Given the description of an element on the screen output the (x, y) to click on. 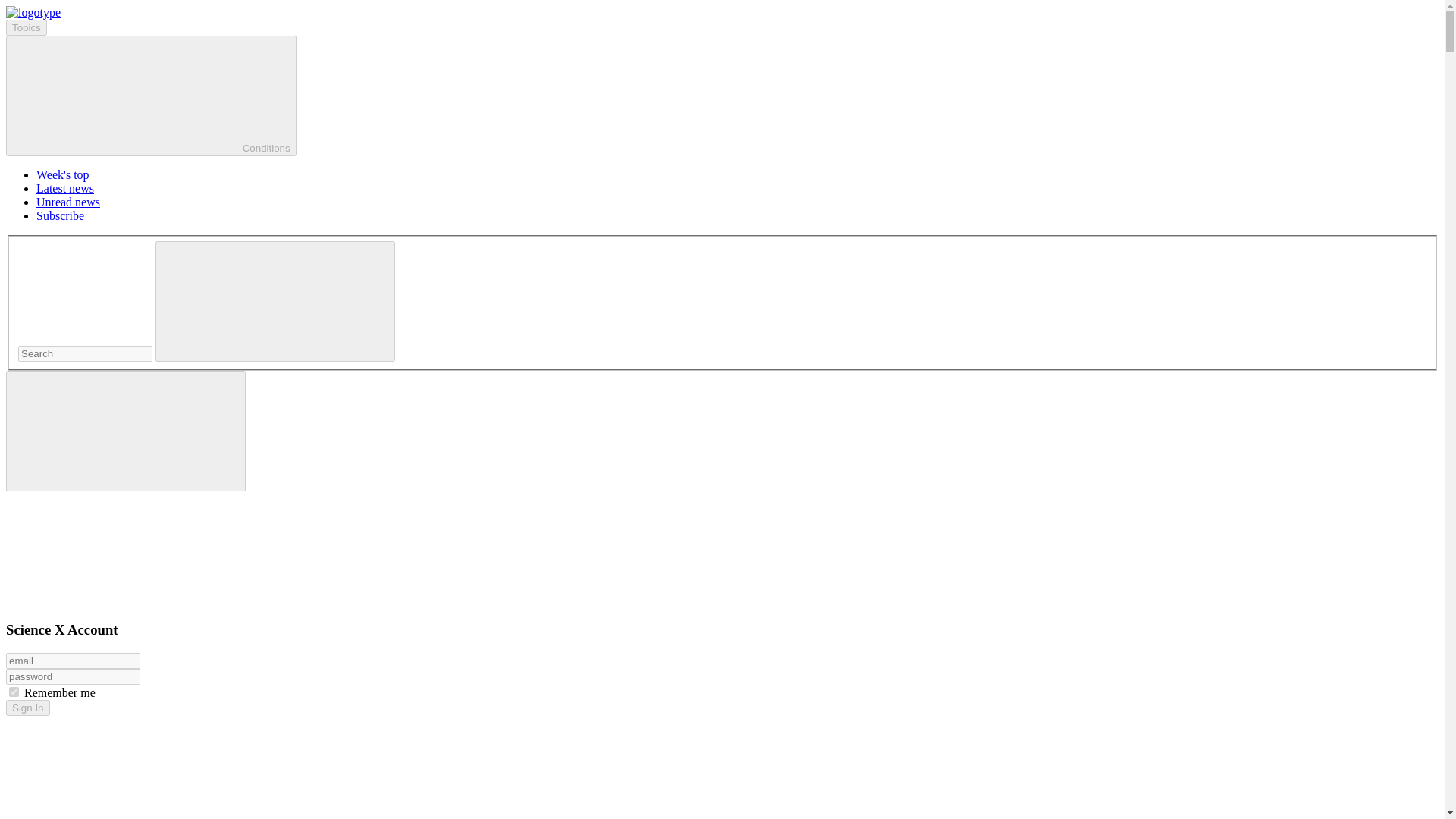
Latest news (65, 187)
Sign In (27, 707)
Conditions (151, 96)
Unread news (68, 201)
Subscribe (60, 215)
on (13, 691)
Week's top (62, 174)
Topics (25, 27)
